Given the description of an element on the screen output the (x, y) to click on. 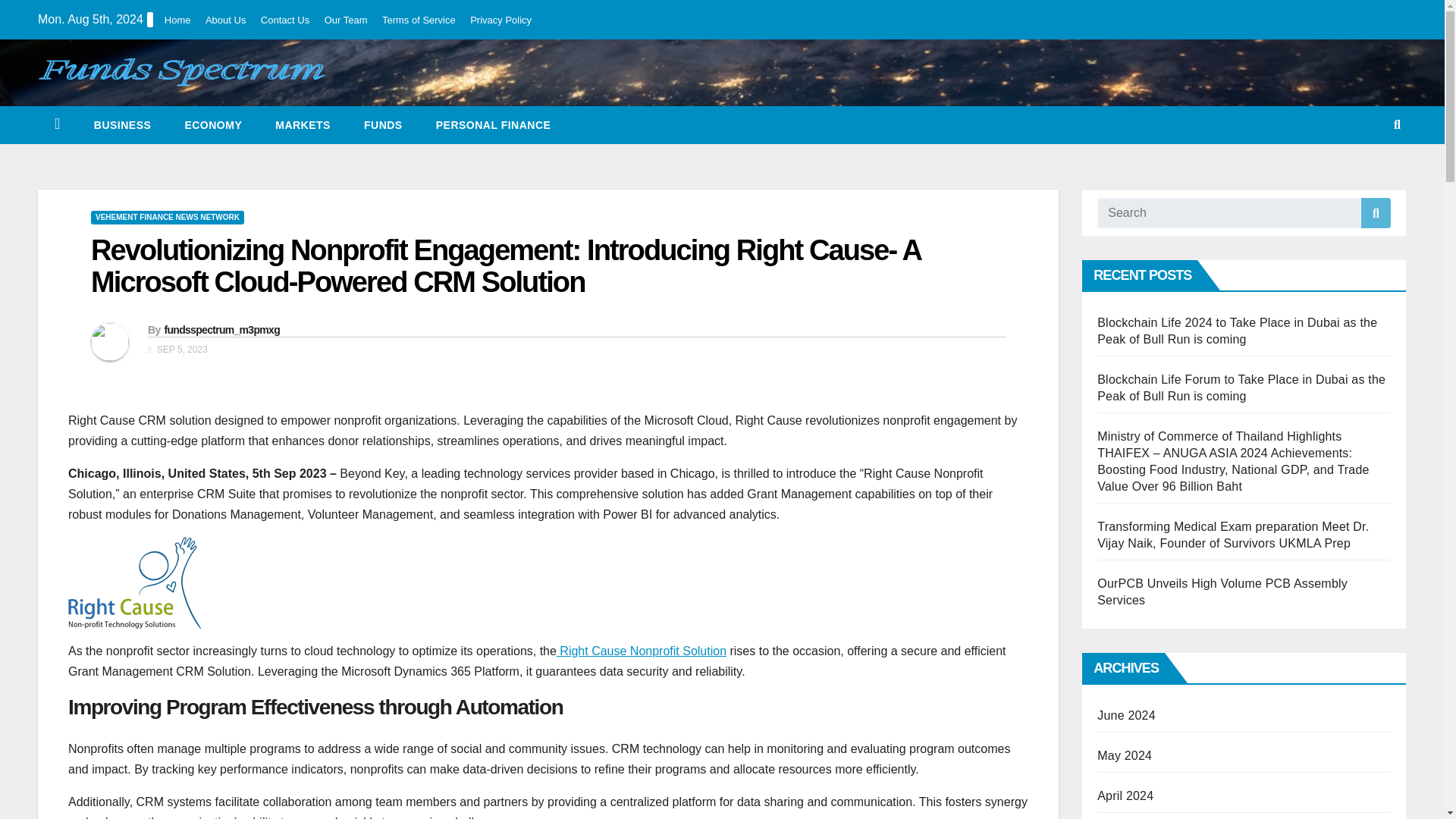
BUSINESS (122, 125)
Personal Finance (493, 125)
ECONOMY (213, 125)
VEHEMENT FINANCE NEWS NETWORK (167, 217)
PERSONAL FINANCE (493, 125)
FUNDS (383, 125)
Economy (213, 125)
Funds (383, 125)
Terms of Service (418, 19)
About Us (225, 19)
Business (122, 125)
Right Cause Nonprofit Solution (641, 650)
Home (177, 19)
Privacy Policy (500, 19)
